Given the description of an element on the screen output the (x, y) to click on. 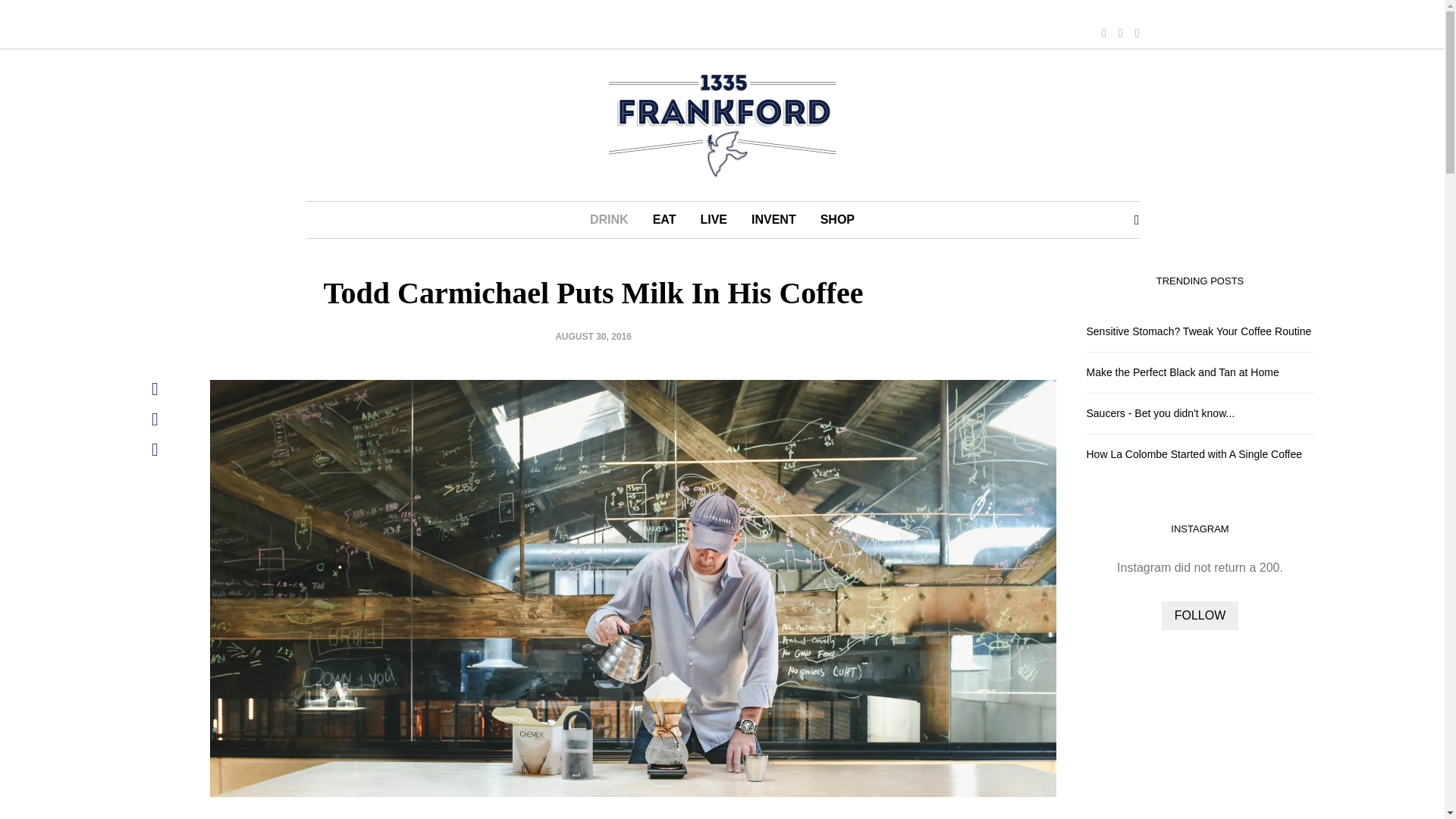
SHOP (837, 219)
DRINK (608, 219)
INVENT (773, 219)
